Given the description of an element on the screen output the (x, y) to click on. 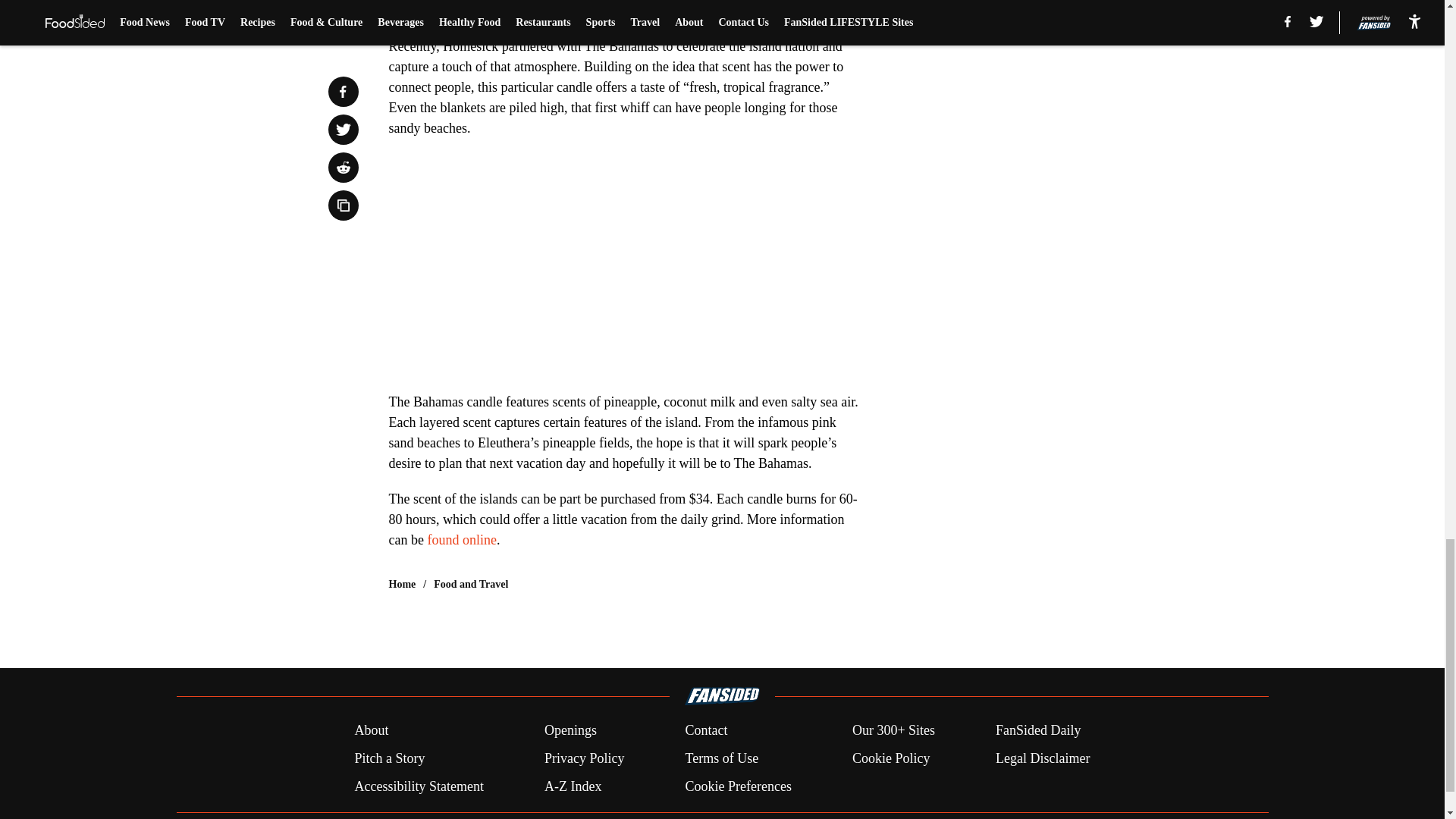
Privacy Policy (584, 758)
Terms of Use (721, 758)
About (370, 730)
FanSided Daily (1038, 730)
Food and Travel (470, 584)
found online (461, 539)
Home (401, 584)
Openings (570, 730)
Pitch a Story (389, 758)
Cookie Policy (890, 758)
